Given the description of an element on the screen output the (x, y) to click on. 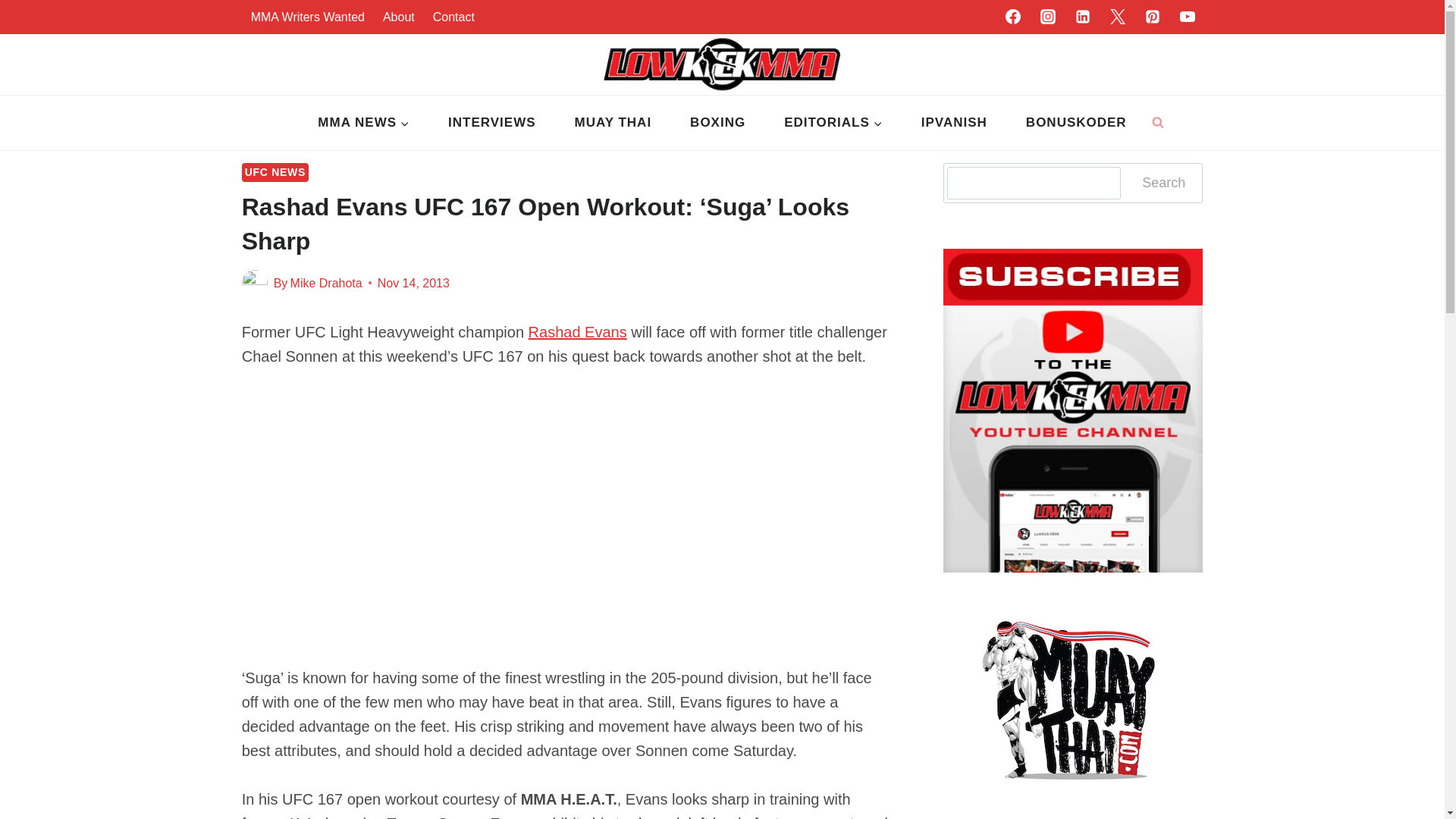
MMA Writers Wanted (307, 17)
INTERVIEWS (491, 122)
EDITORIALS (833, 122)
IPVANISH (953, 122)
MMA NEWS (363, 122)
BONUSKODER (1075, 122)
Rashad Evans (577, 331)
About (398, 17)
MUAY THAI (612, 122)
Contact (453, 17)
